Given the description of an element on the screen output the (x, y) to click on. 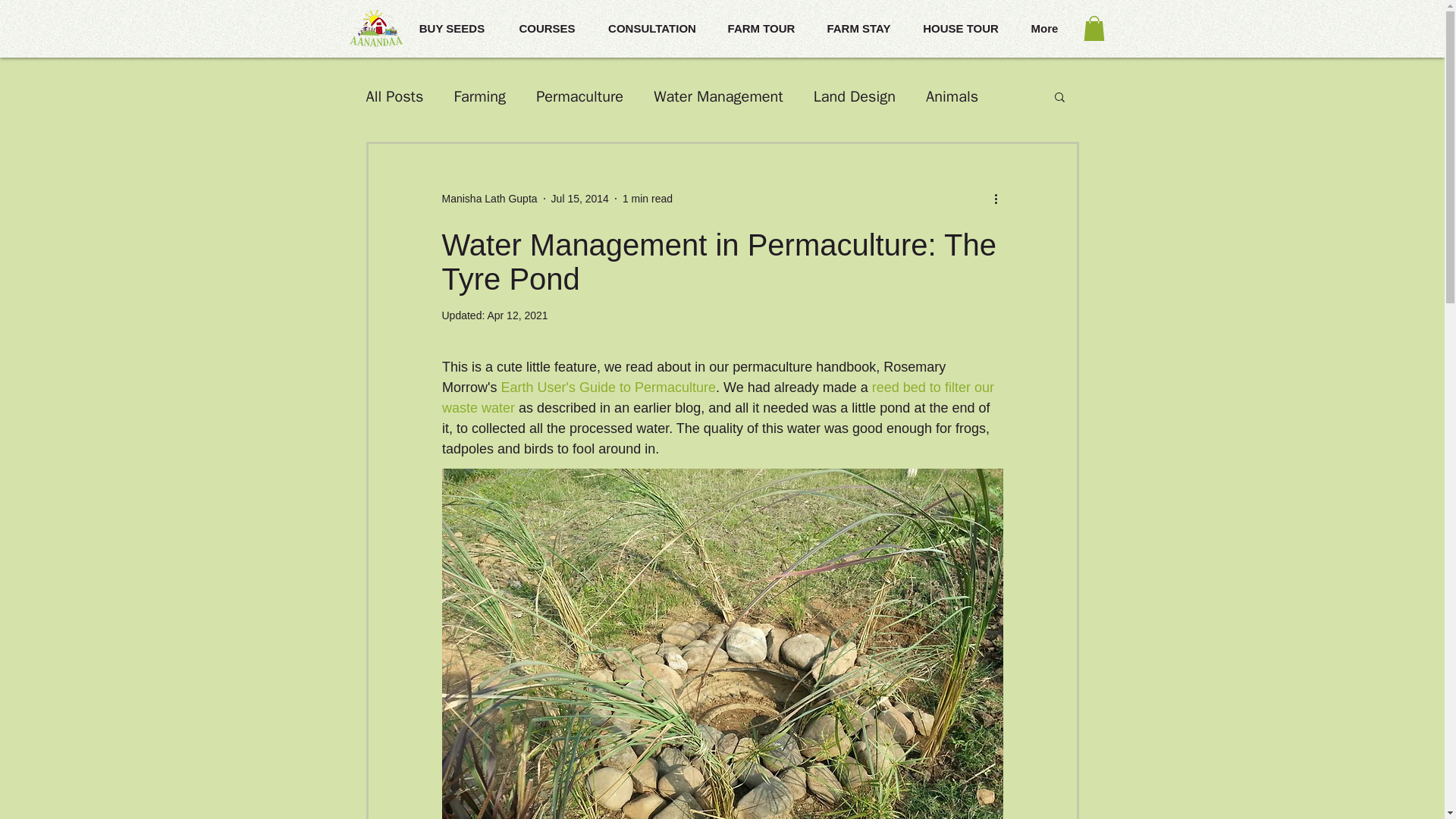
Water Management (718, 96)
FARM STAY (858, 28)
Farming (478, 96)
Jul 15, 2014 (579, 198)
Apr 12, 2021 (516, 315)
Manisha Lath Gupta (489, 198)
BUY SEEDS (450, 28)
Land Design (854, 96)
Animals (952, 96)
COURSES (547, 28)
HOUSE TOUR (960, 28)
FARM TOUR (760, 28)
All Posts (394, 96)
Manisha Lath Gupta (489, 198)
Permaculture (579, 96)
